Given the description of an element on the screen output the (x, y) to click on. 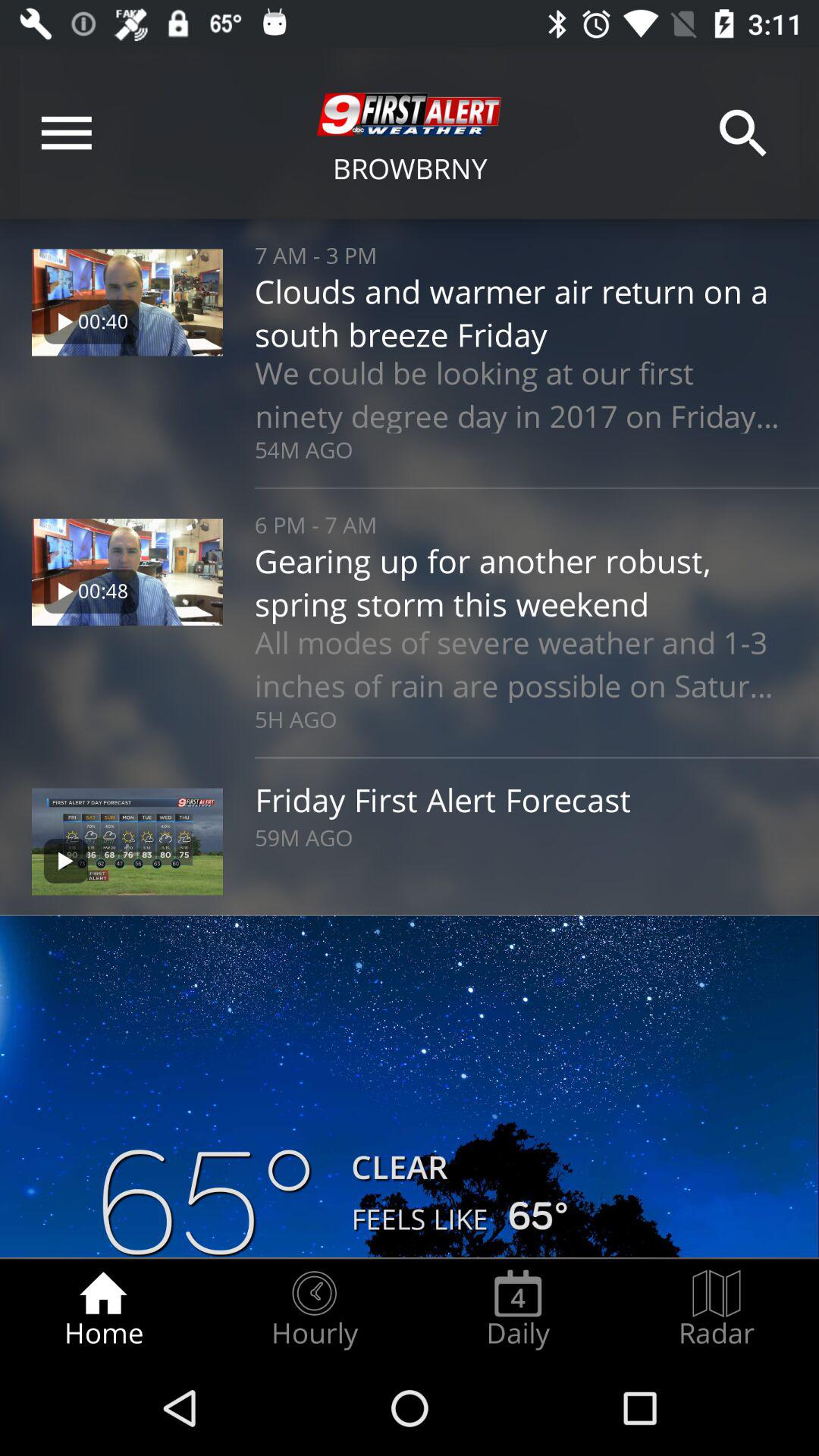
tap the radio button to the right of the hourly icon (518, 1309)
